Given the description of an element on the screen output the (x, y) to click on. 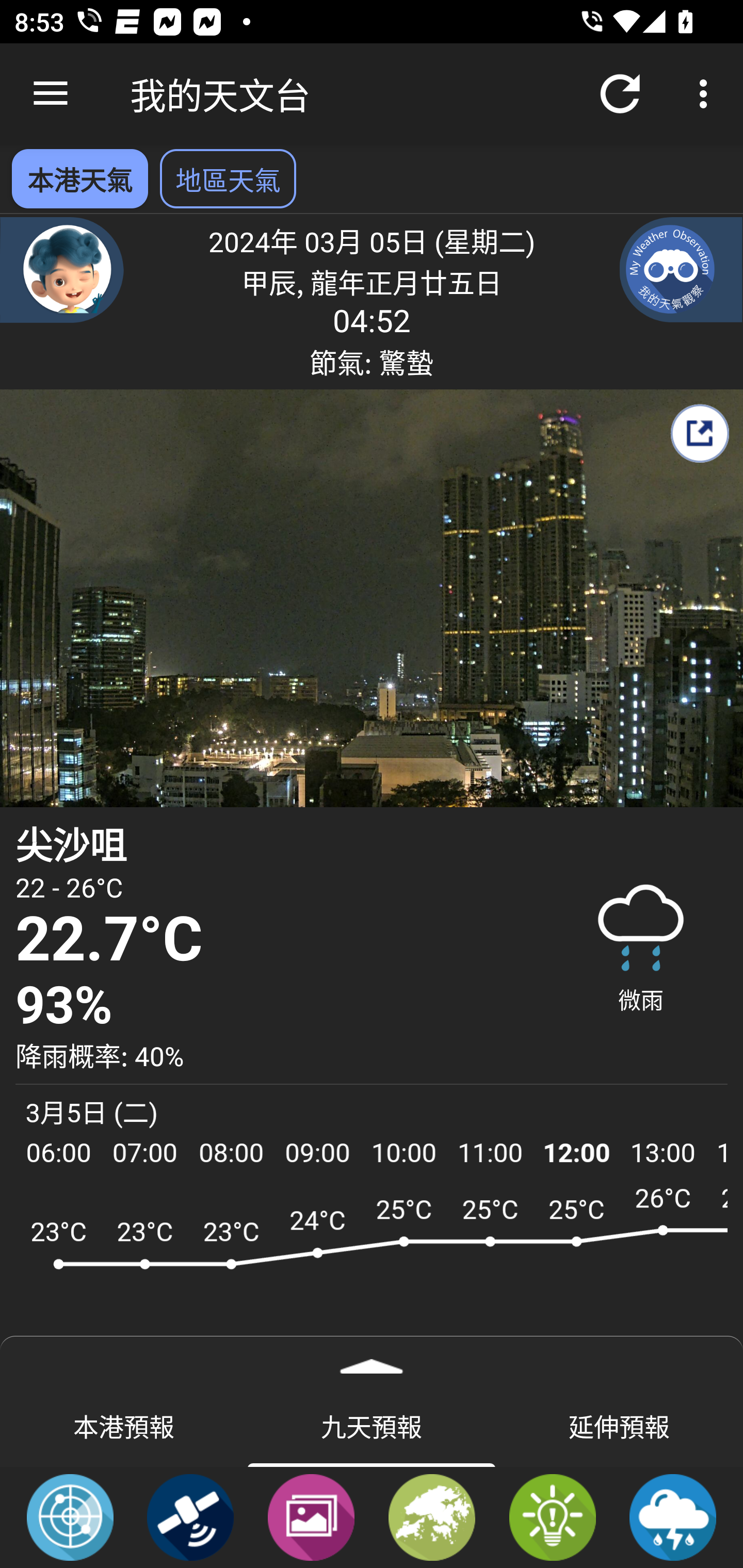
向上瀏覽 (50, 93)
重新整理 (619, 93)
更多選項 (706, 93)
本港天氣 已選擇 本港天氣 (79, 178)
地區天氣 選擇 地區天氣 (227, 178)
聊天機械人 (62, 269)
我的天氣觀察 (680, 269)
分享我的天氣報告 (699, 433)
22.7°C 氣溫22.7攝氏度 (276, 939)
93% 相對濕度百分之93 (276, 1005)
九天自動天氣預報 圖片
輕按進入內頁，即可了解詳細資料。 ARWF (371, 1275)
展開 (371, 1358)
本港預報 (123, 1424)
延伸預報 (619, 1424)
雷達圖像 (69, 1516)
衛星圖像 (190, 1516)
天氣照片 (310, 1516)
分區天氣 (431, 1516)
天氣提示 (551, 1516)
定點降雨及閃電預報 (672, 1516)
